Given the description of an element on the screen output the (x, y) to click on. 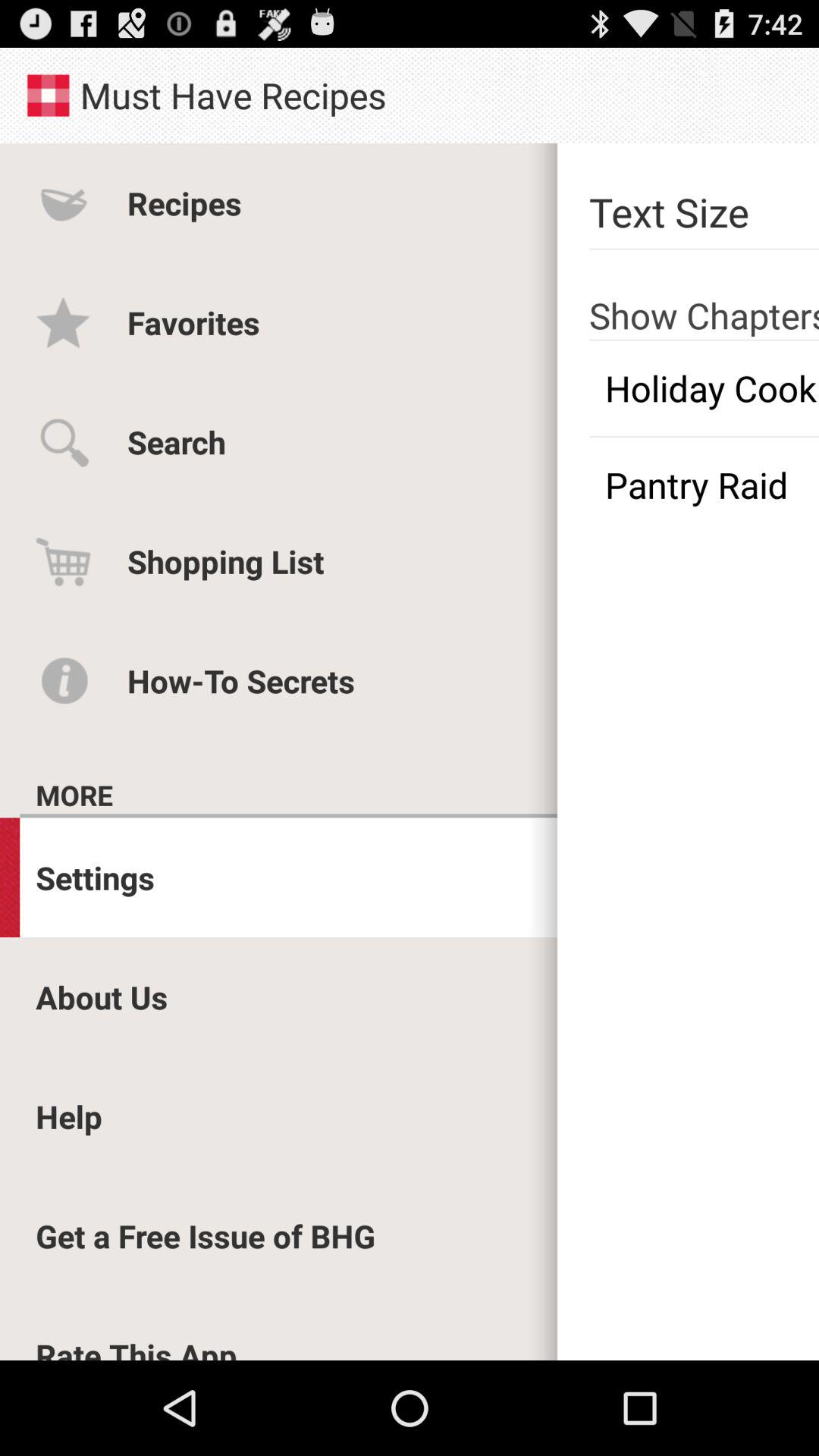
click holiday cooking checkbox (704, 388)
